Given the description of an element on the screen output the (x, y) to click on. 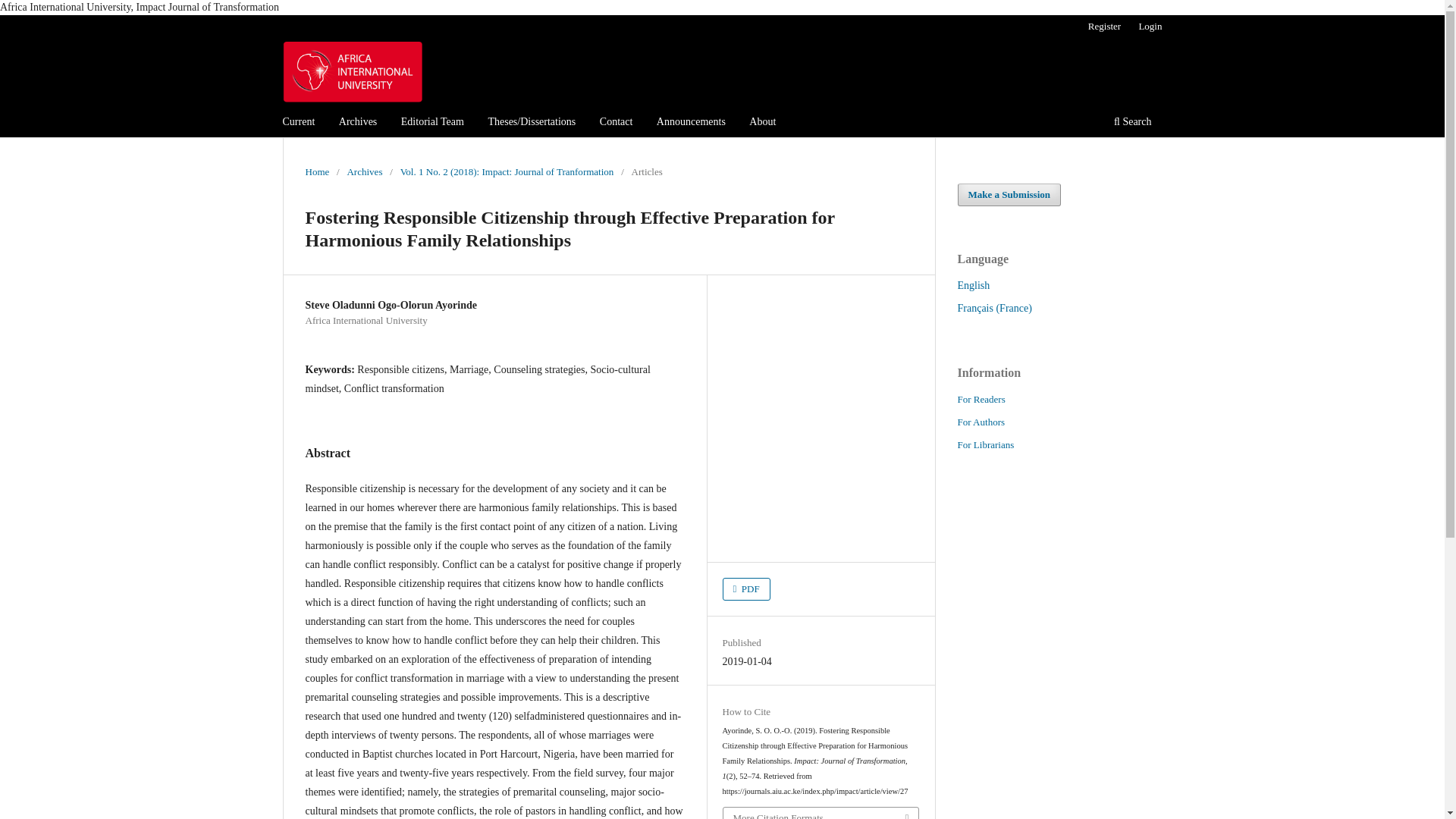
Contact (616, 123)
Announcements (690, 123)
Current (299, 123)
Archives (357, 123)
Editorial Team (432, 123)
Make a Submission (1008, 194)
Register (1104, 26)
Search (1132, 123)
Home (316, 171)
PDF (746, 589)
